Given the description of an element on the screen output the (x, y) to click on. 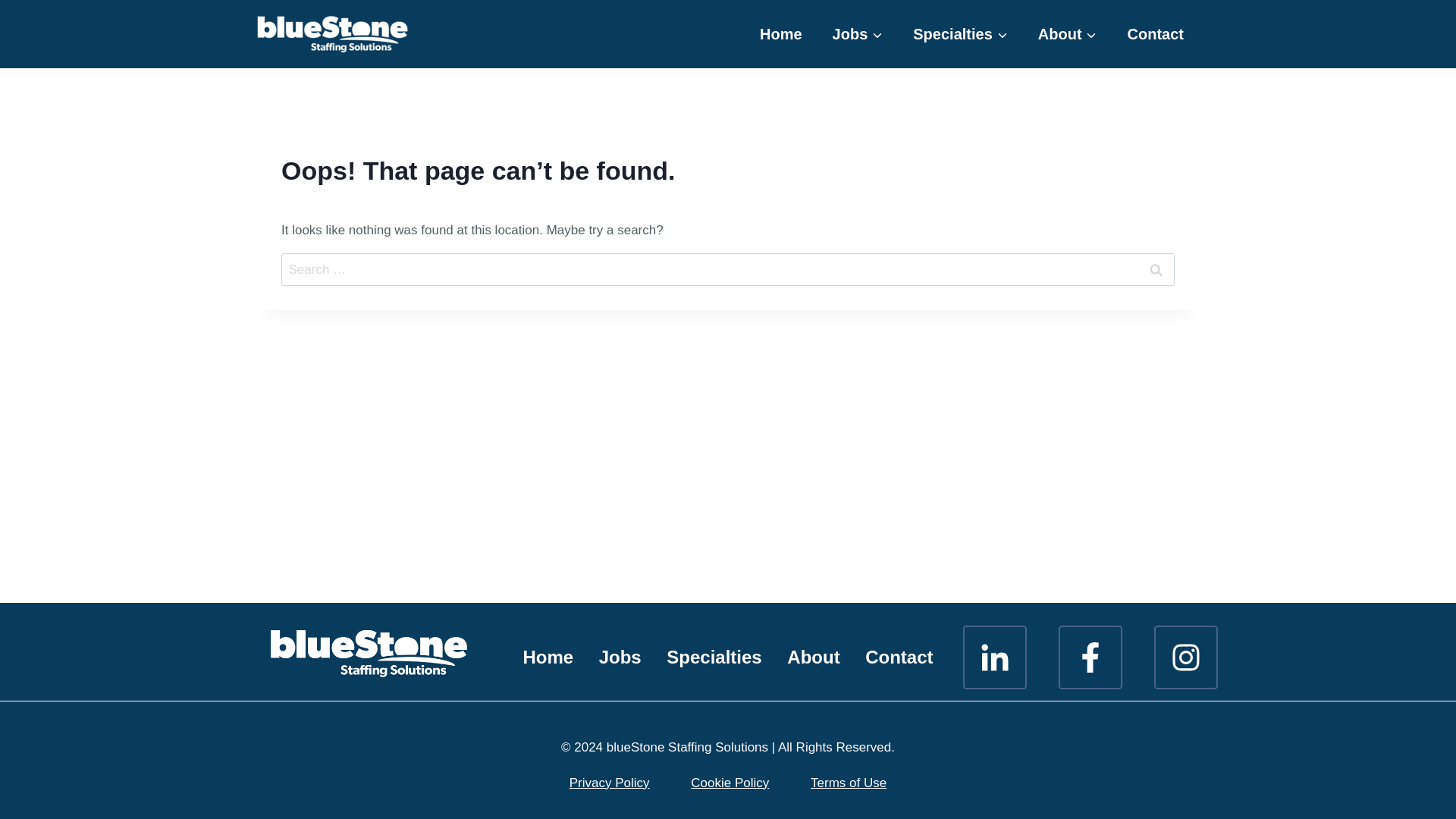
Home (548, 657)
Search (1155, 269)
Search (1155, 269)
Specialties (960, 34)
Jobs (857, 34)
Search (1155, 269)
About (1067, 34)
Cookie Policy (729, 783)
Privacy Policy (609, 783)
Contact (1155, 34)
Terms of Use (848, 783)
Home (780, 34)
About (813, 657)
Specialties (713, 657)
Jobs (619, 657)
